Given the description of an element on the screen output the (x, y) to click on. 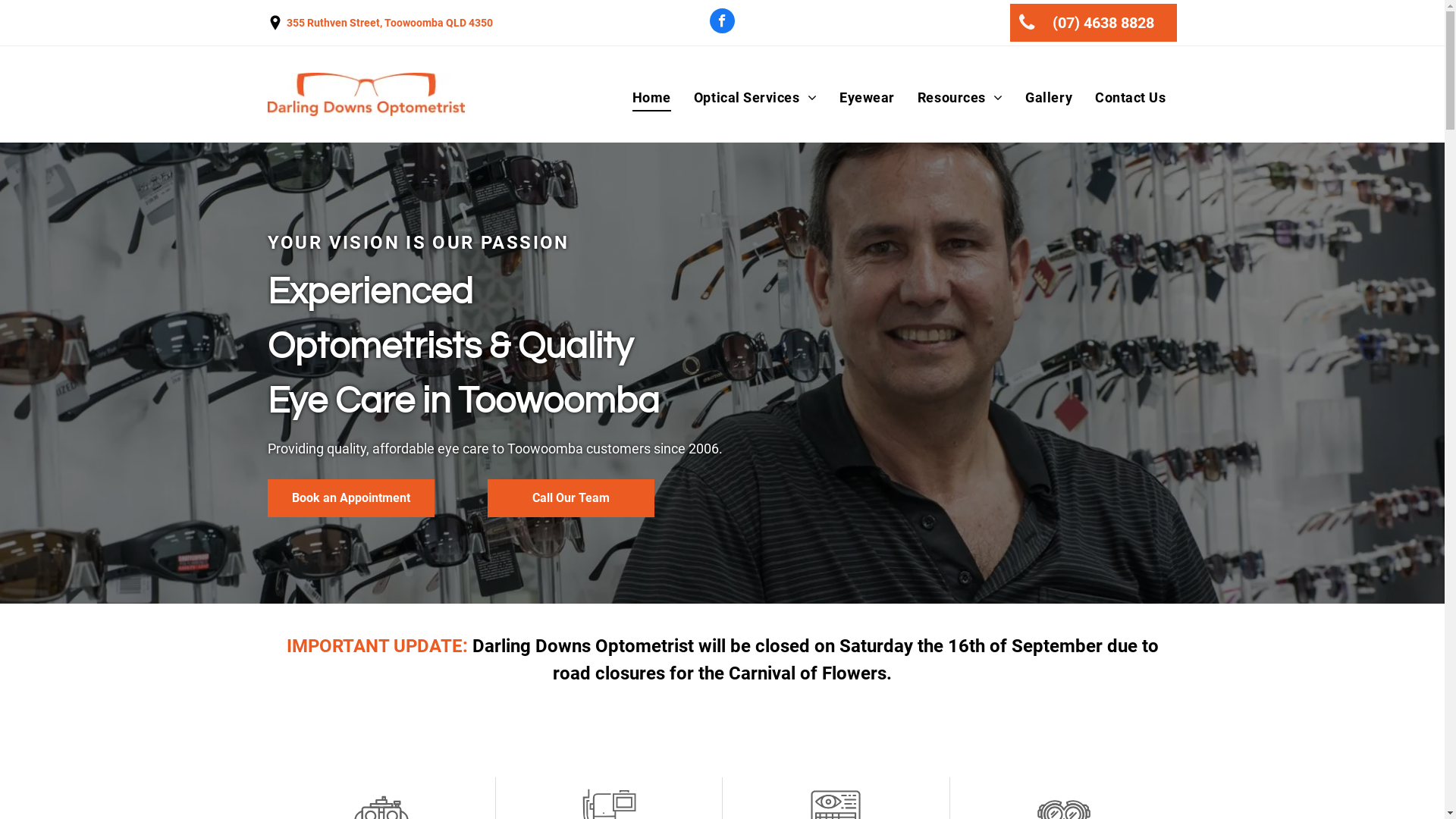
(07) 4638 8828 Element type: text (1093, 22)
Resources Element type: text (959, 96)
Home Element type: text (651, 96)
Gallery Element type: text (1048, 96)
Contact Us Element type: text (1129, 96)
Optical Services Element type: text (755, 96)
Eyewear Element type: text (867, 96)
Call Our Team Element type: text (569, 498)
355 Ruthven Street, Toowoomba QLD 4350 Element type: text (389, 22)
Book an Appointment Element type: text (349, 498)
Darling Downs Optometrist Element type: hover (365, 94)
